Given the description of an element on the screen output the (x, y) to click on. 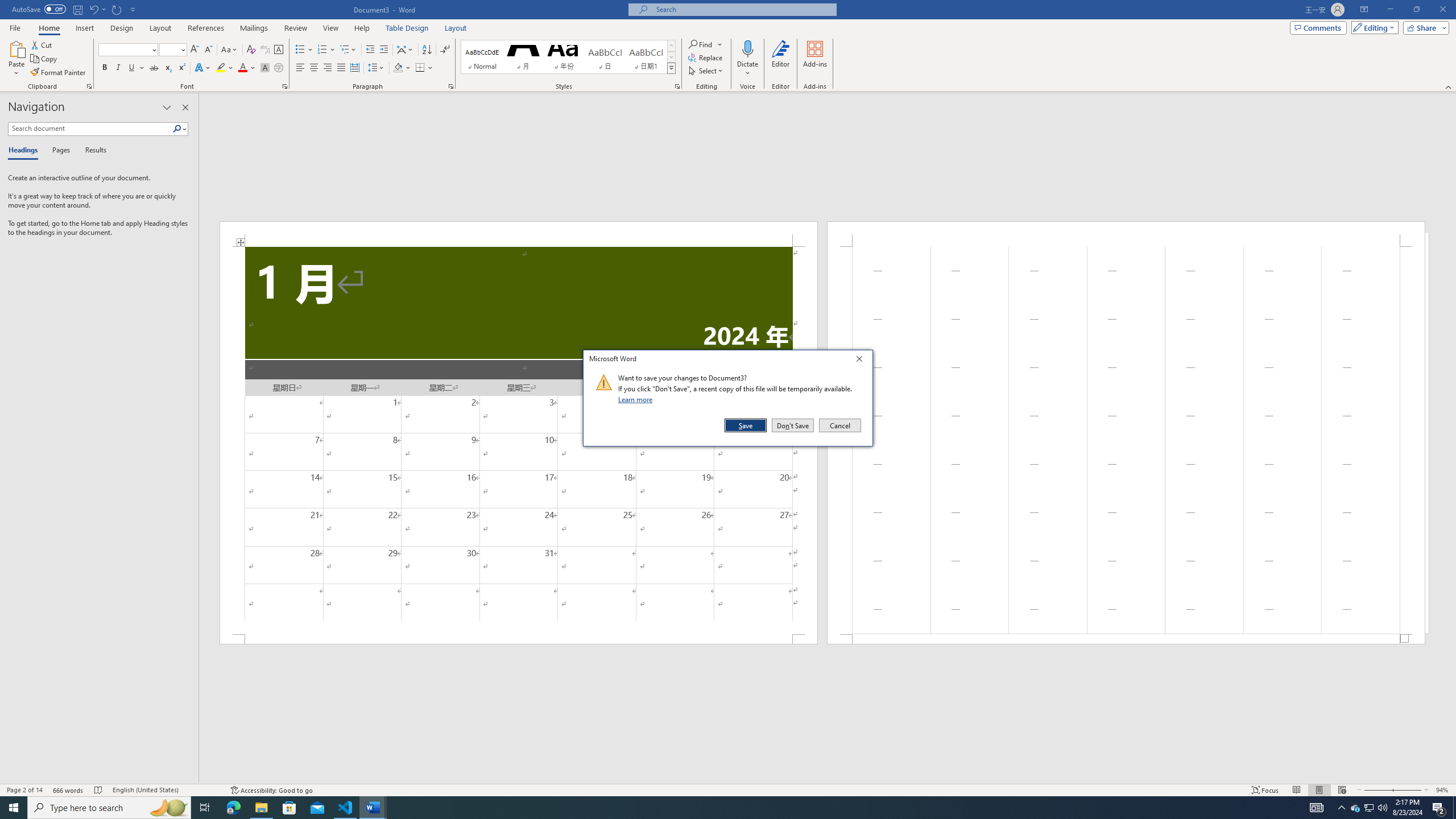
Running applications (717, 807)
